Given the description of an element on the screen output the (x, y) to click on. 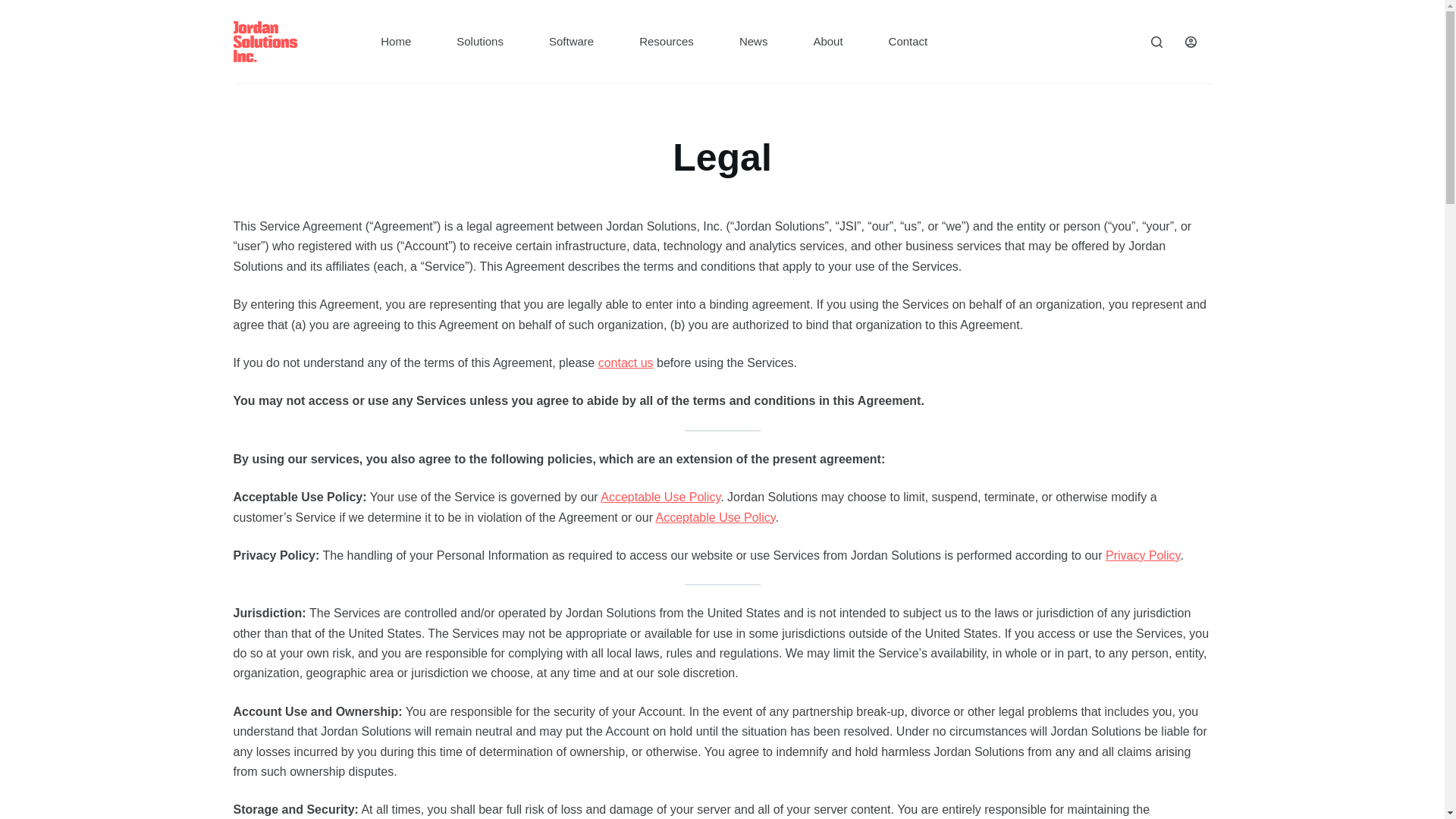
Home (395, 41)
About (827, 41)
Privacy Policy (1142, 554)
Resources (665, 41)
Skip to content (15, 7)
News (753, 41)
Acceptable Use Policy (659, 496)
Solutions (479, 41)
Contact (908, 41)
contact us (625, 362)
